Given the description of an element on the screen output the (x, y) to click on. 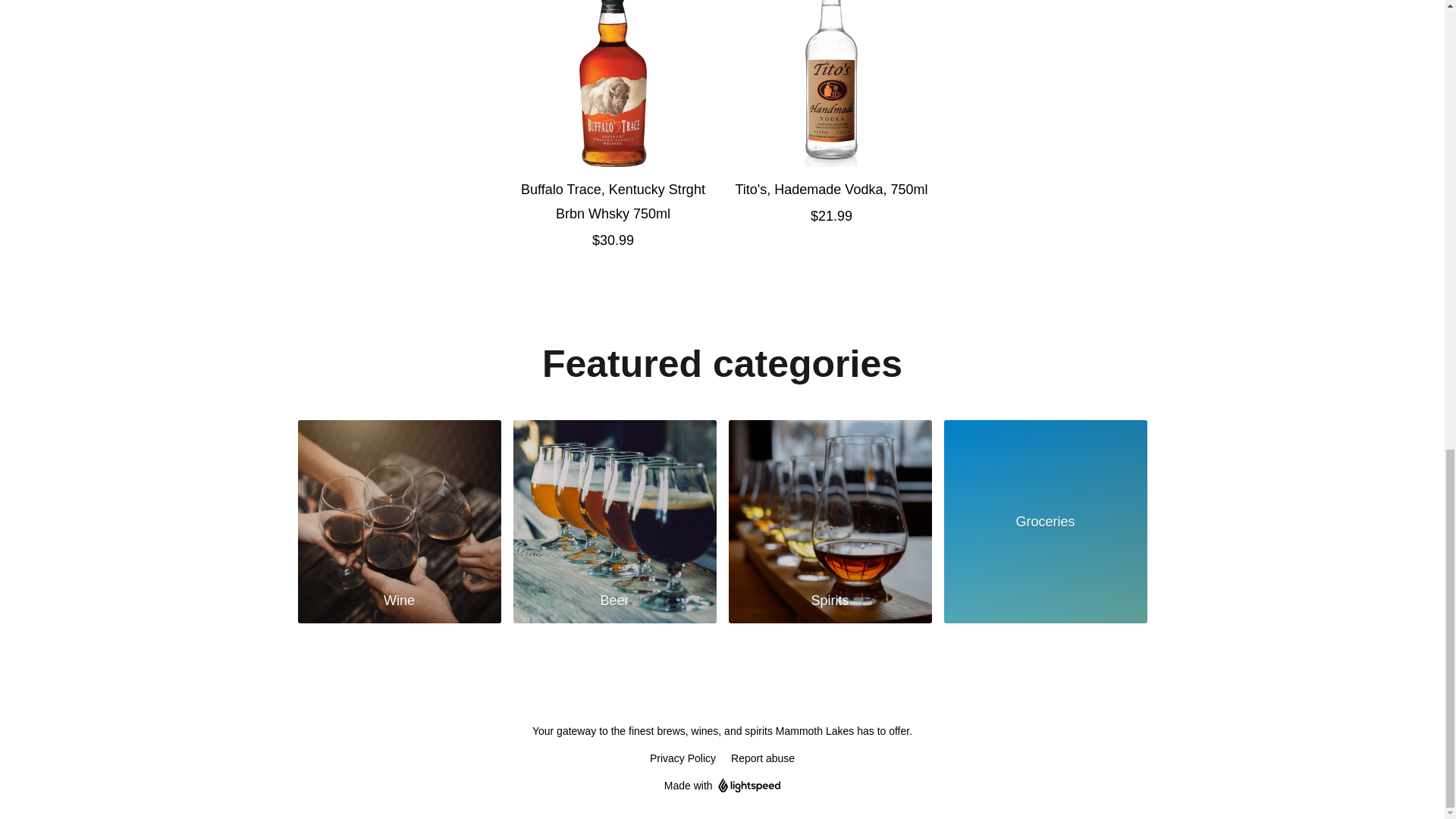
Privacy Policy (682, 758)
Groceries (1045, 521)
Beer (614, 521)
Report abuse (762, 758)
Wine (398, 521)
Made with (721, 785)
Spirits (829, 521)
